Given the description of an element on the screen output the (x, y) to click on. 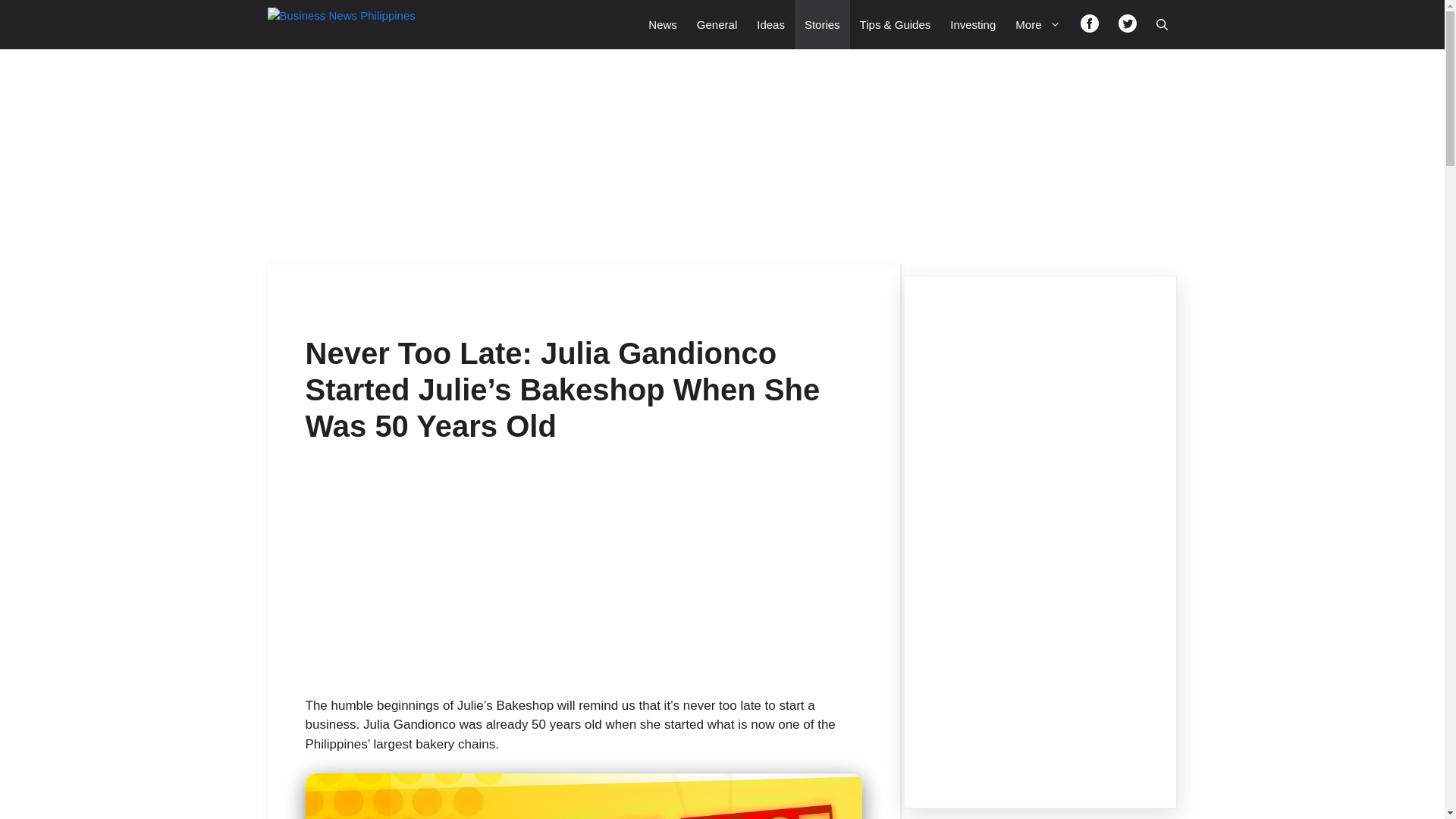
Ideas (770, 24)
Investing (973, 24)
Business News Philippines (352, 24)
Stories (822, 24)
General (716, 24)
News (663, 24)
More (1038, 24)
